Given the description of an element on the screen output the (x, y) to click on. 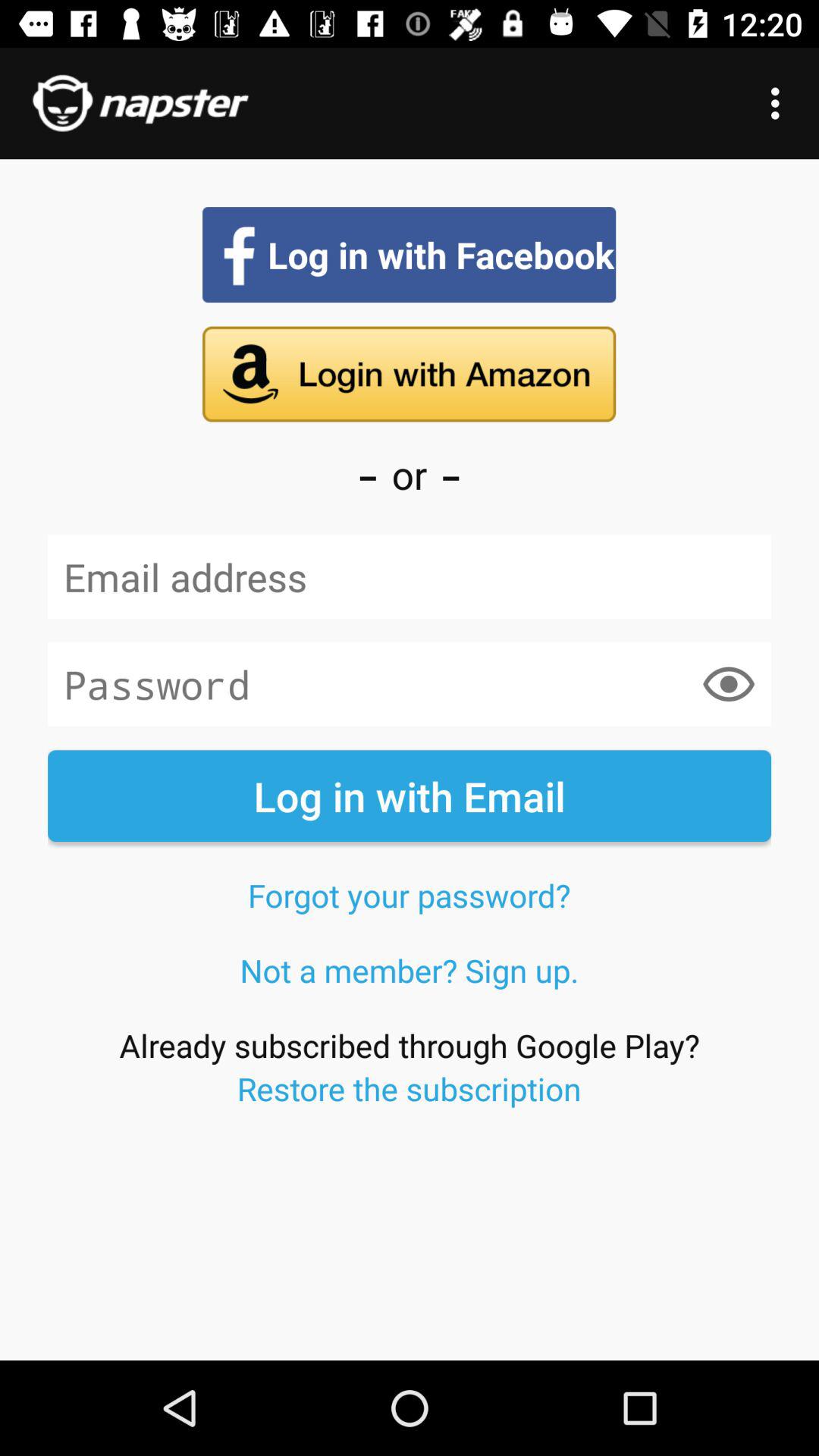
turn on the icon above or (408, 374)
